Given the description of an element on the screen output the (x, y) to click on. 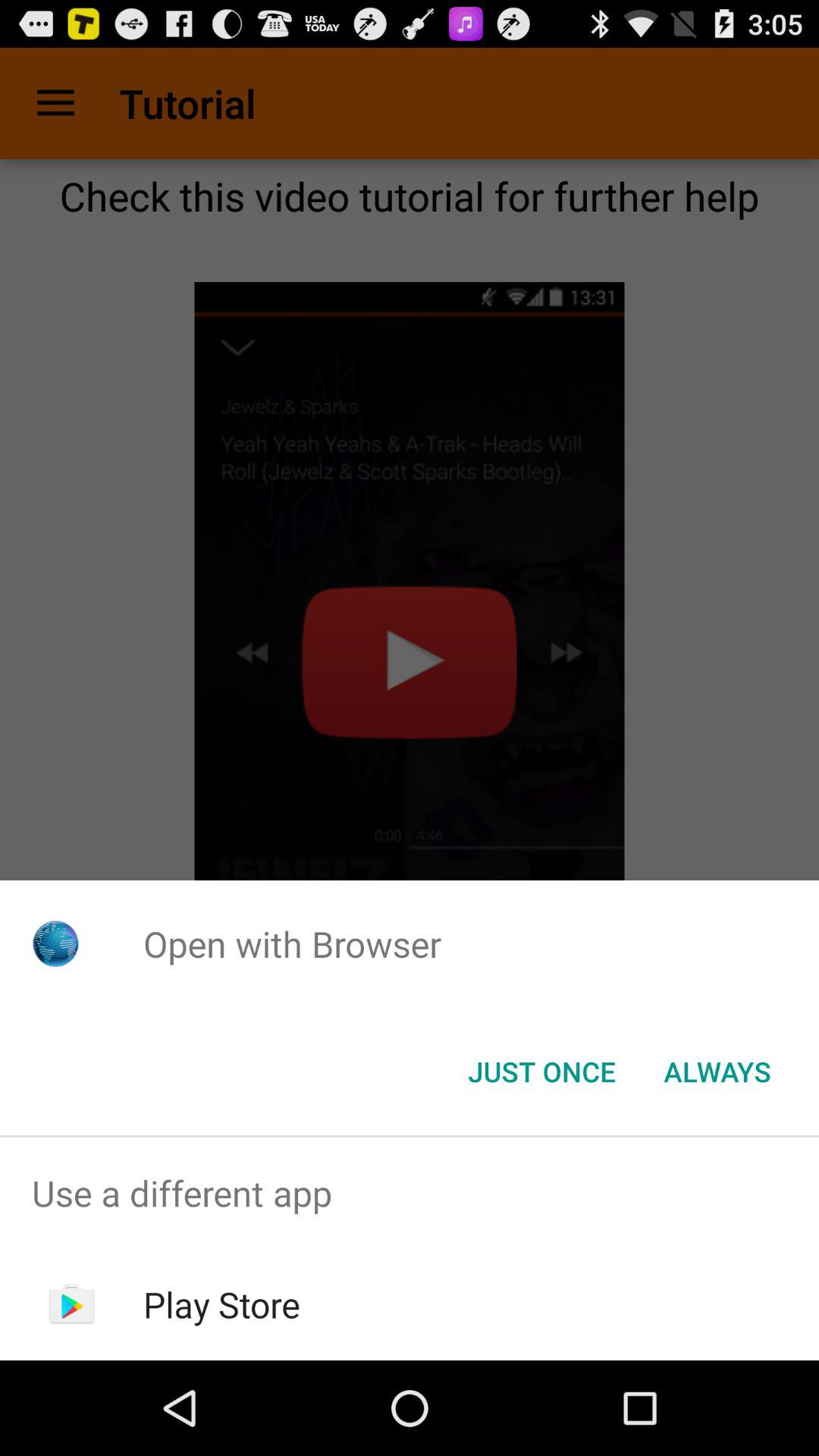
tap the play store (221, 1304)
